Given the description of an element on the screen output the (x, y) to click on. 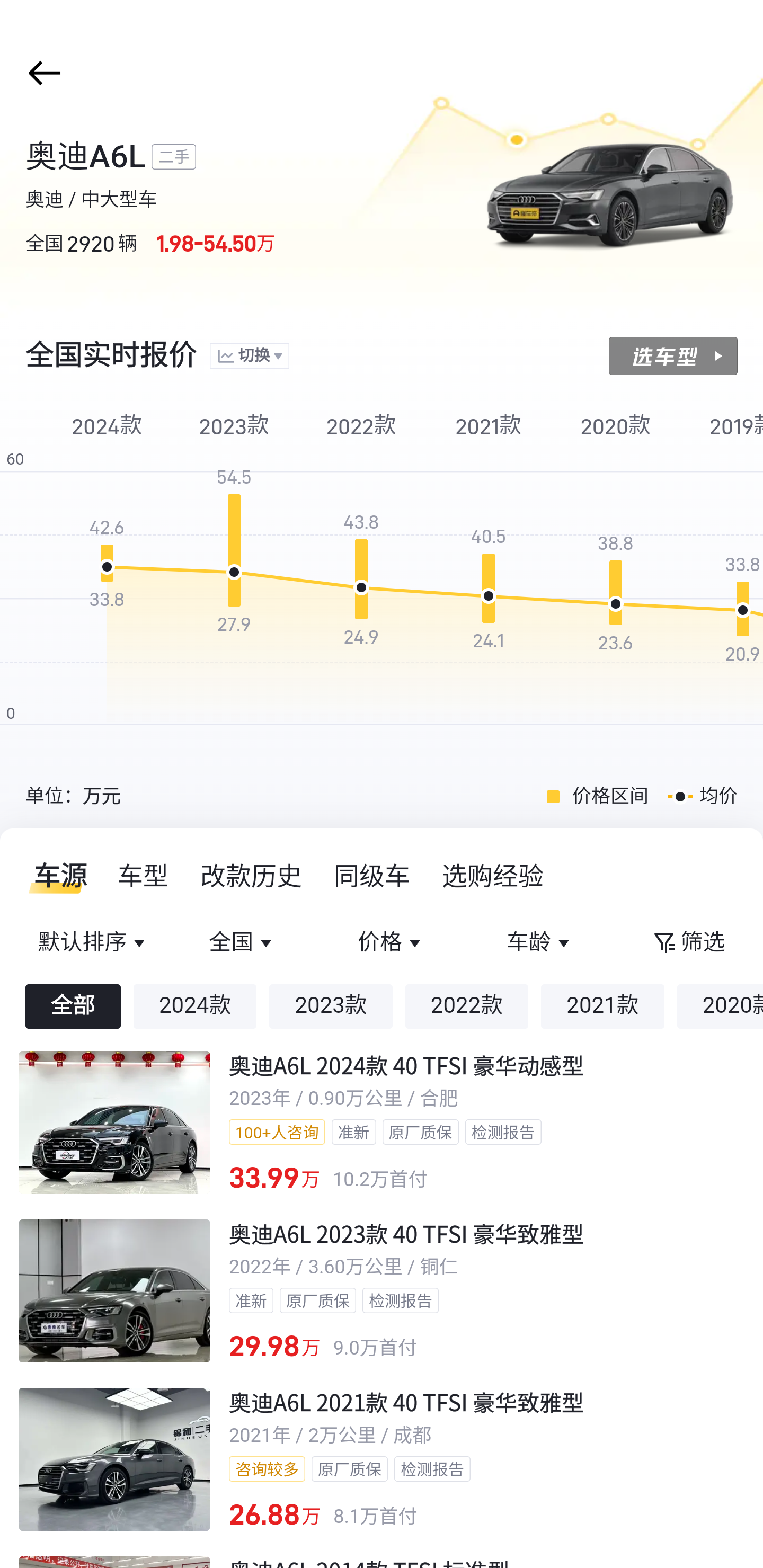
 (41, 72)
切换 (249, 356)
2024款 42.6 33.8 (107, 579)
2023款 54.5 27.9 (234, 579)
2022款 43.8 24.9 (361, 579)
2021款 40.5 24.1 (489, 579)
2020款 38.8 23.6 (615, 579)
2019 款 33.8 20.9 (724, 579)
车源 (55, 875)
车型 (143, 876)
改款历史 (251, 876)
同级车 (372, 876)
选购经验 (492, 876)
默认排序 (93, 943)
全国 (242, 943)
价格 (390, 943)
车龄 (538, 943)
筛选 (688, 943)
全部 (73, 1006)
2024款 (195, 1006)
2023款 (330, 1006)
2022款 (466, 1006)
2021款 (602, 1006)
